Given the description of an element on the screen output the (x, y) to click on. 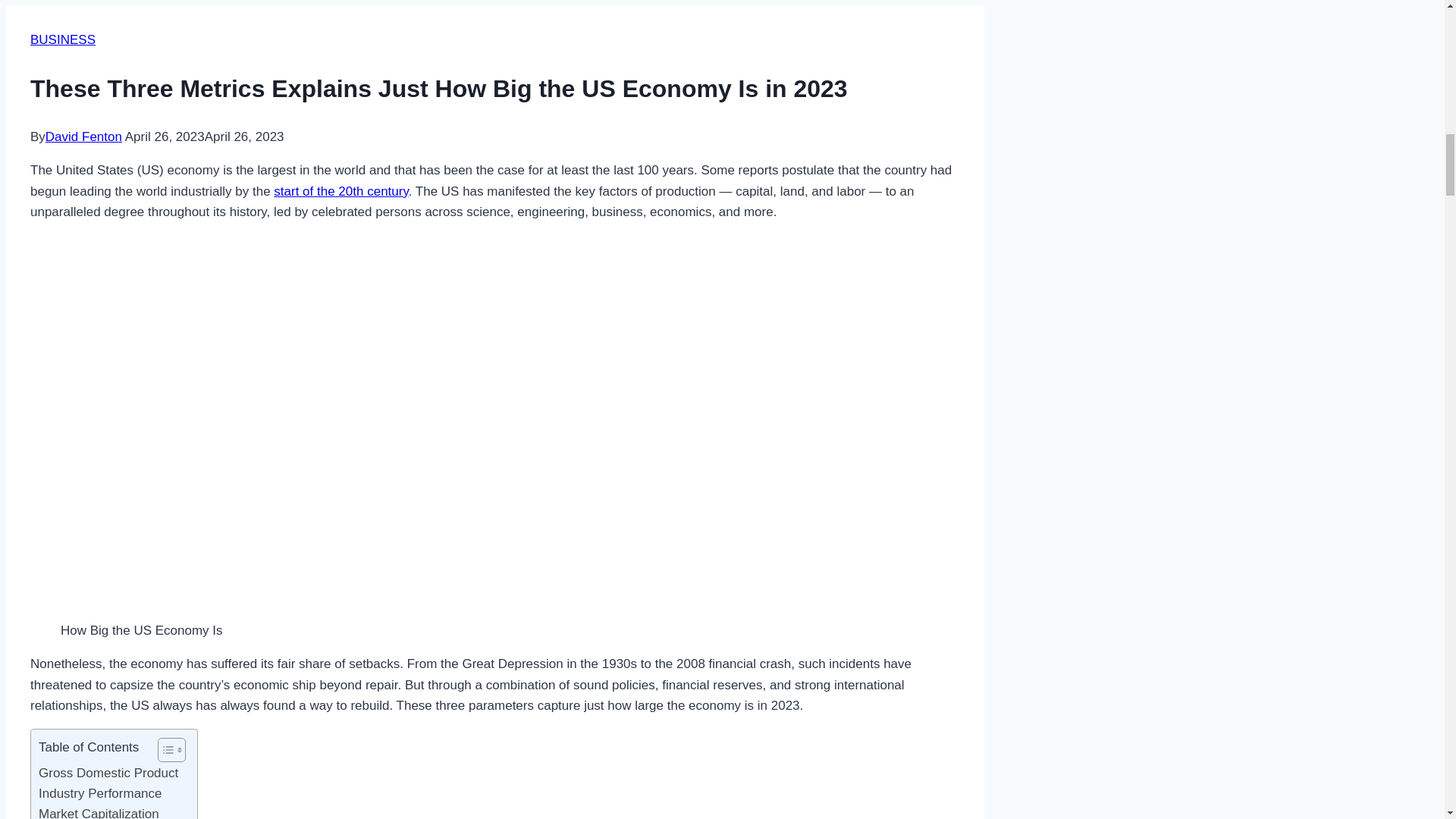
Industry Performance (100, 792)
Gross Domestic Product (108, 772)
Market Capitalization (98, 811)
